Given the description of an element on the screen output the (x, y) to click on. 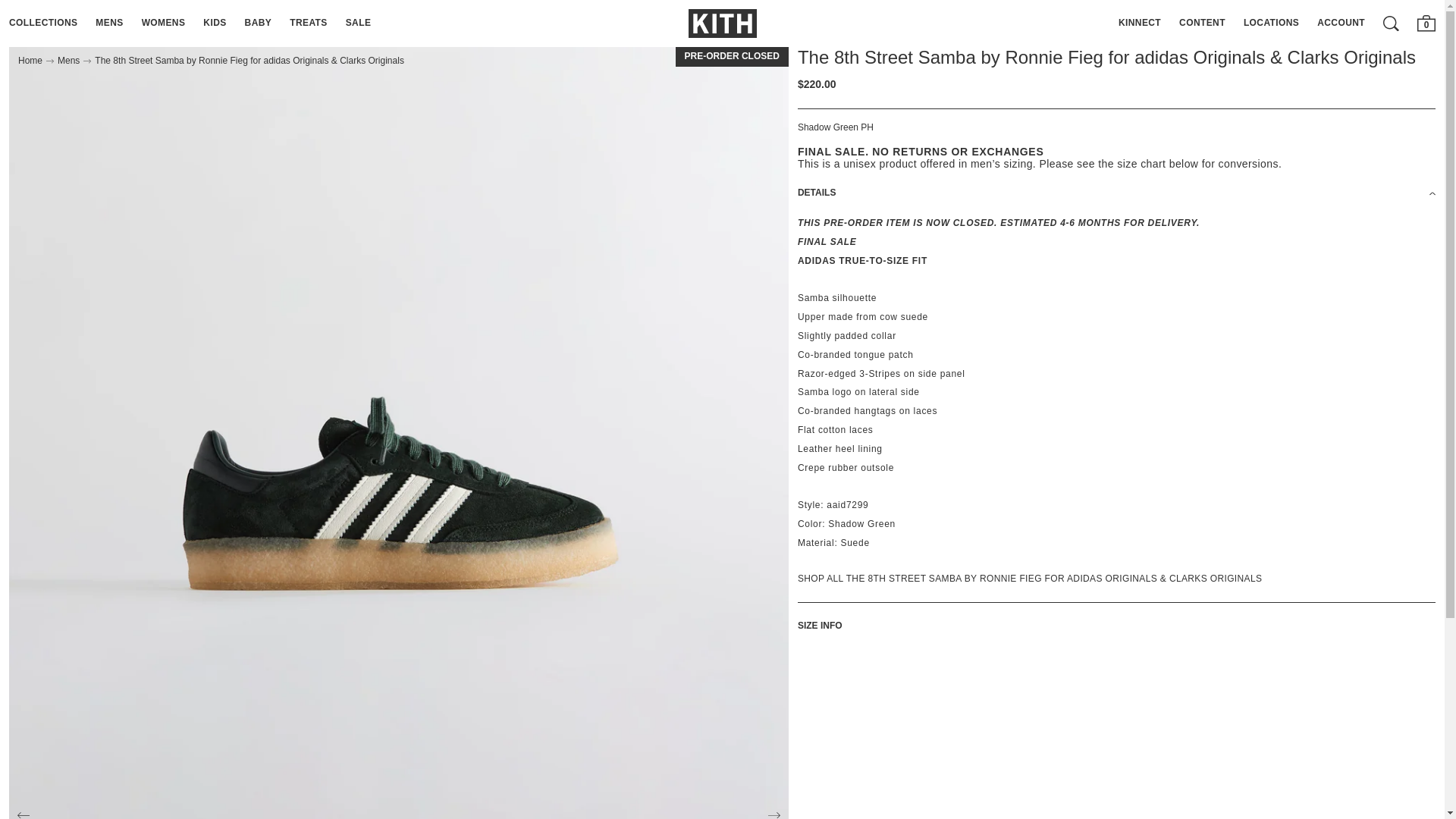
Kith (722, 23)
KITH LOGO (722, 23)
